Given the description of an element on the screen output the (x, y) to click on. 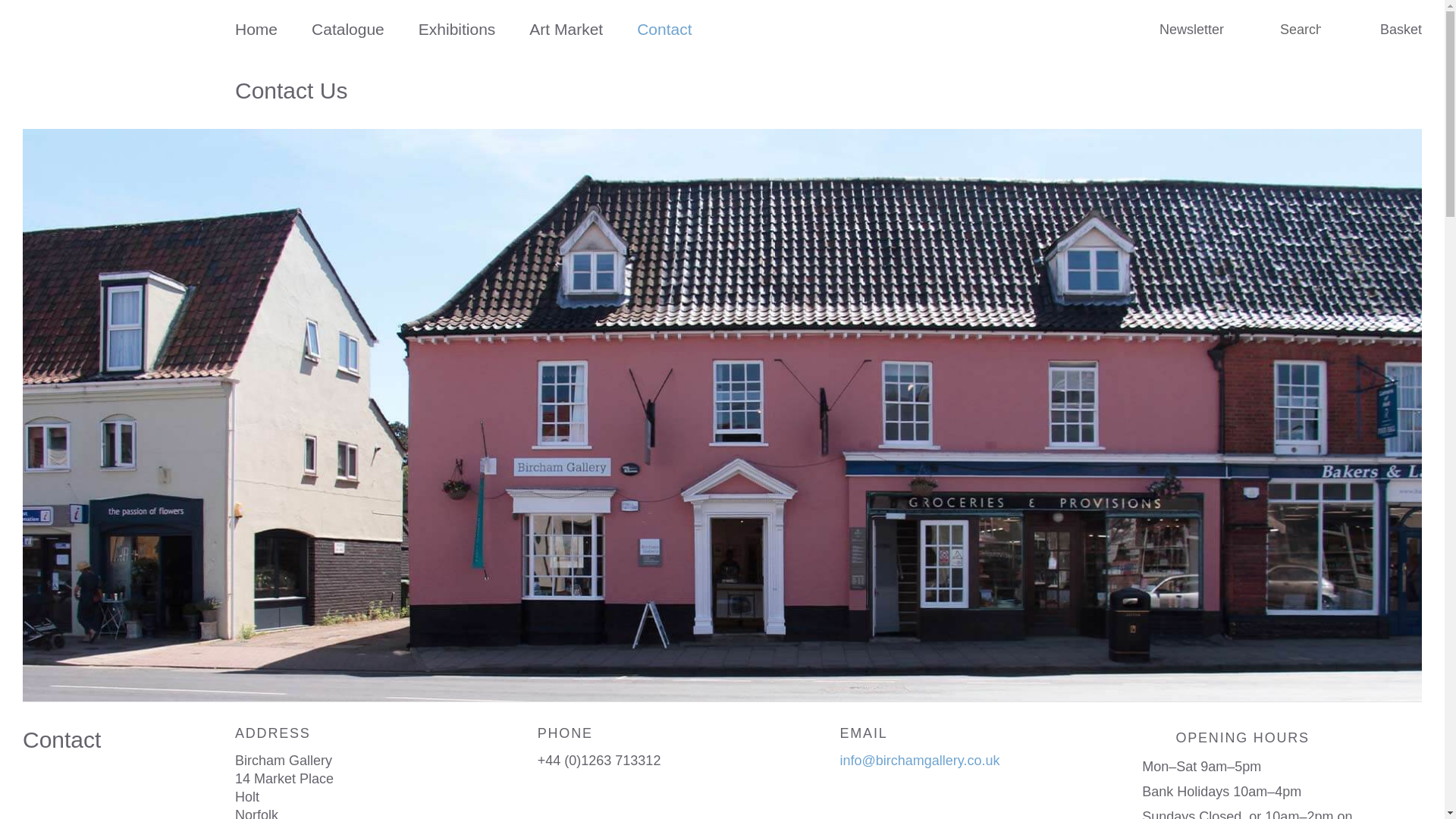
Contact (664, 28)
Home (256, 28)
Home page (256, 28)
Search (21, 9)
Contact us (664, 28)
Email the gallery (920, 760)
Search (1301, 30)
Exhibition programme (457, 28)
Basket (1390, 29)
Search (1266, 29)
